Given the description of an element on the screen output the (x, y) to click on. 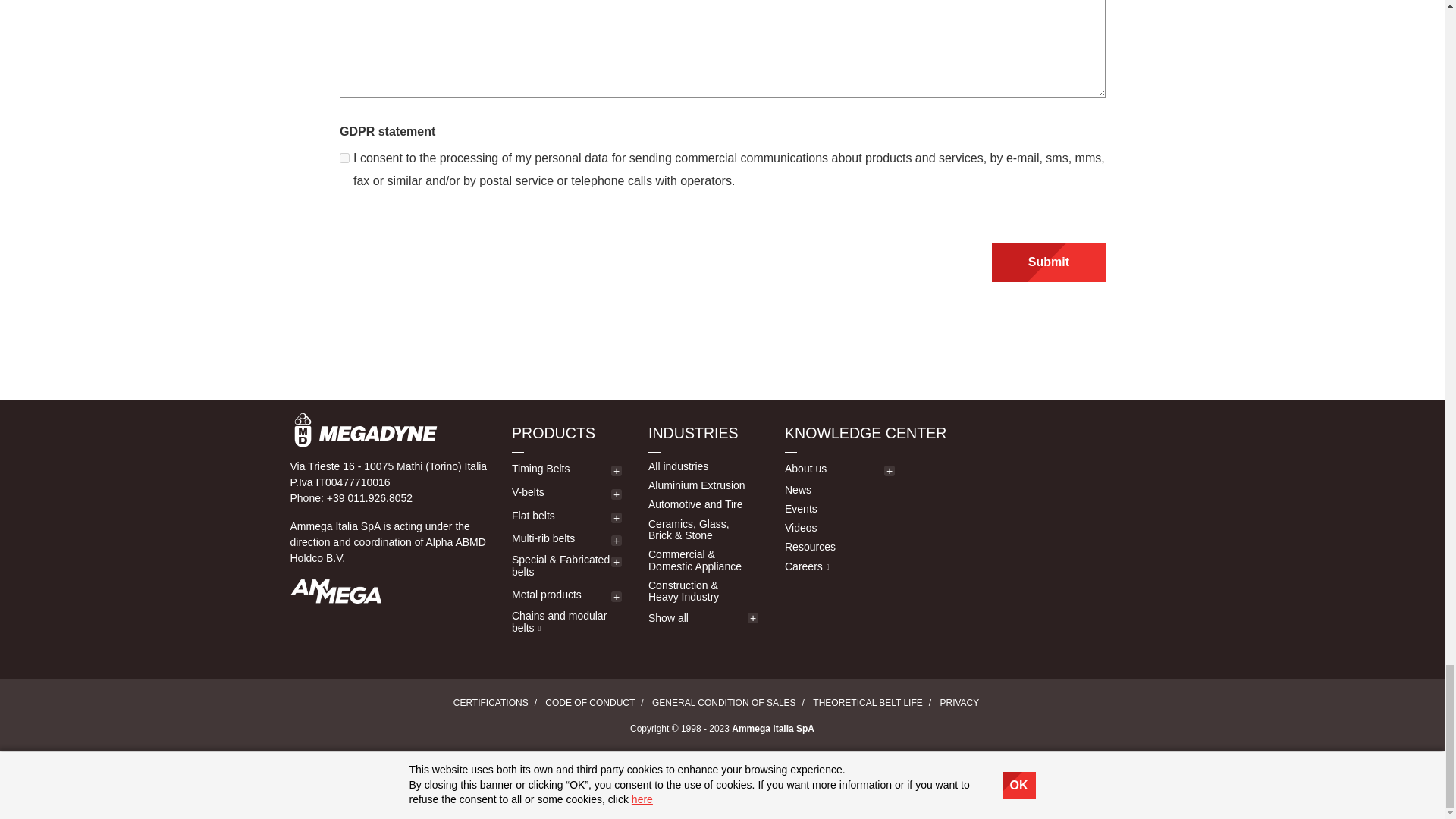
Go to the homepage (389, 430)
